Given the description of an element on the screen output the (x, y) to click on. 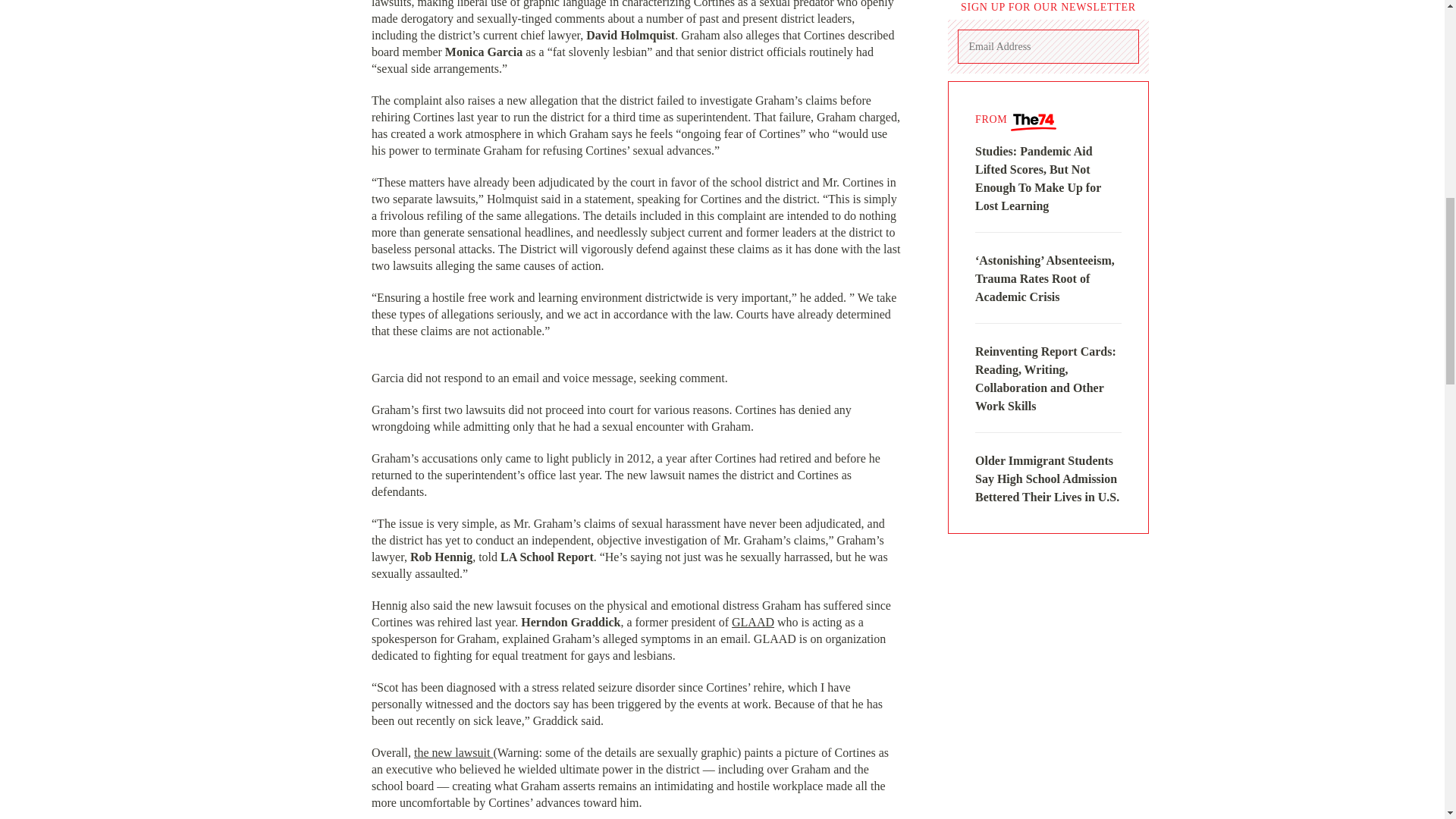
GLAAD (753, 621)
